Given the description of an element on the screen output the (x, y) to click on. 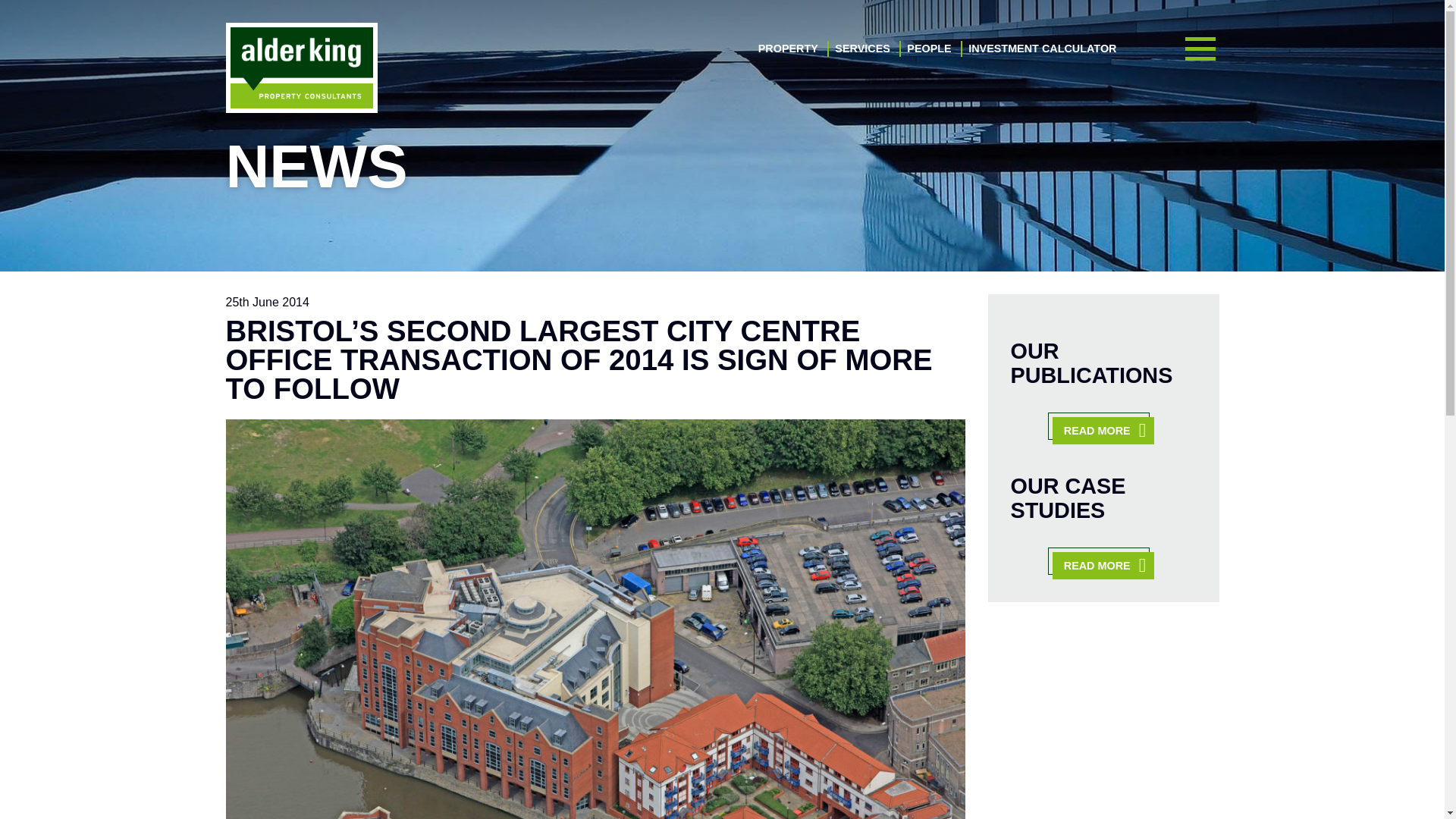
SERVICES (861, 48)
READ MORE (1102, 430)
PEOPLE (928, 48)
PROPERTY (788, 48)
toggle menu (1199, 49)
READ MORE (1102, 565)
INVESTMENT CALCULATOR (1042, 48)
Search (1178, 482)
